Given the description of an element on the screen output the (x, y) to click on. 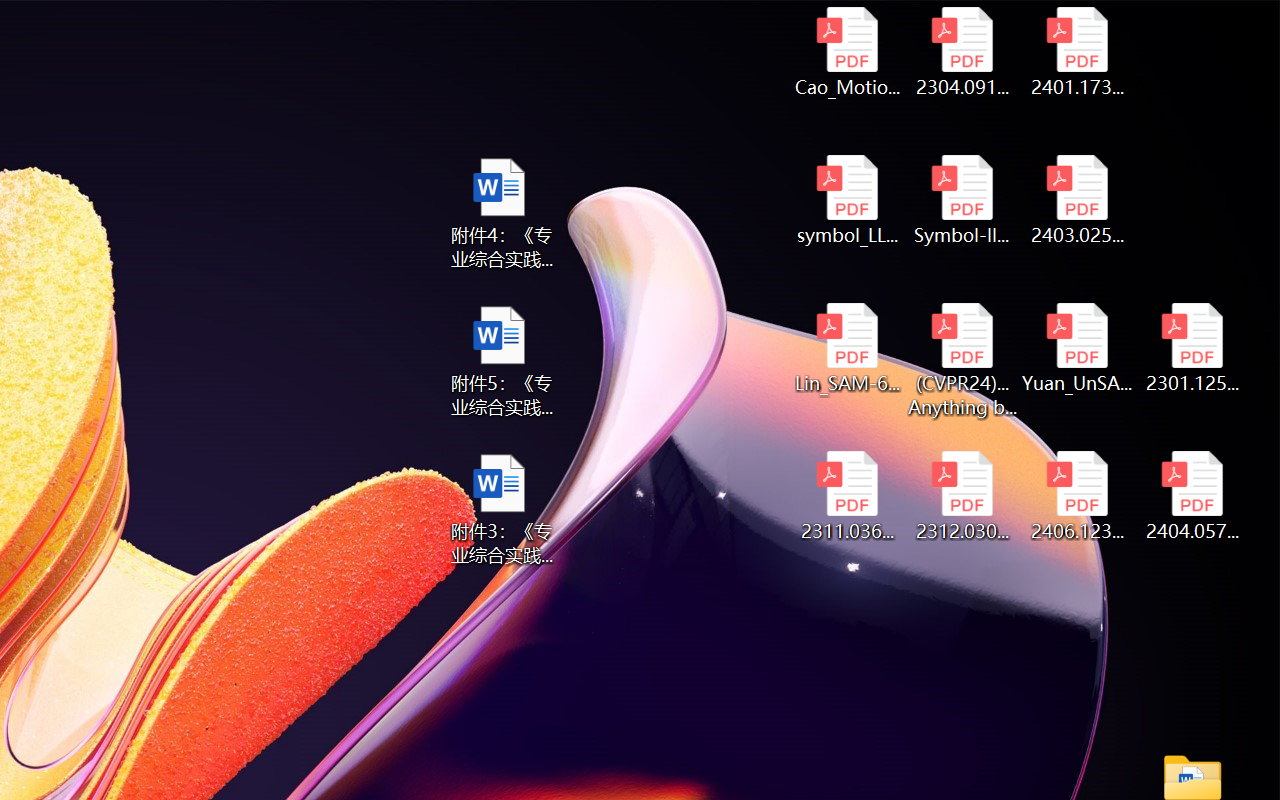
Third-party cookies blocked (1139, 69)
Sign in - Google Accounts (354, 22)
Turn cookies on or off - Computer - Google Account Help (724, 22)
New Tab (872, 22)
Chrome Web Store - Color themes by Chrome (133, 22)
Google Account Help (651, 22)
8 Ball Pool - Apps on Google Play (1021, 22)
